Given the description of an element on the screen output the (x, y) to click on. 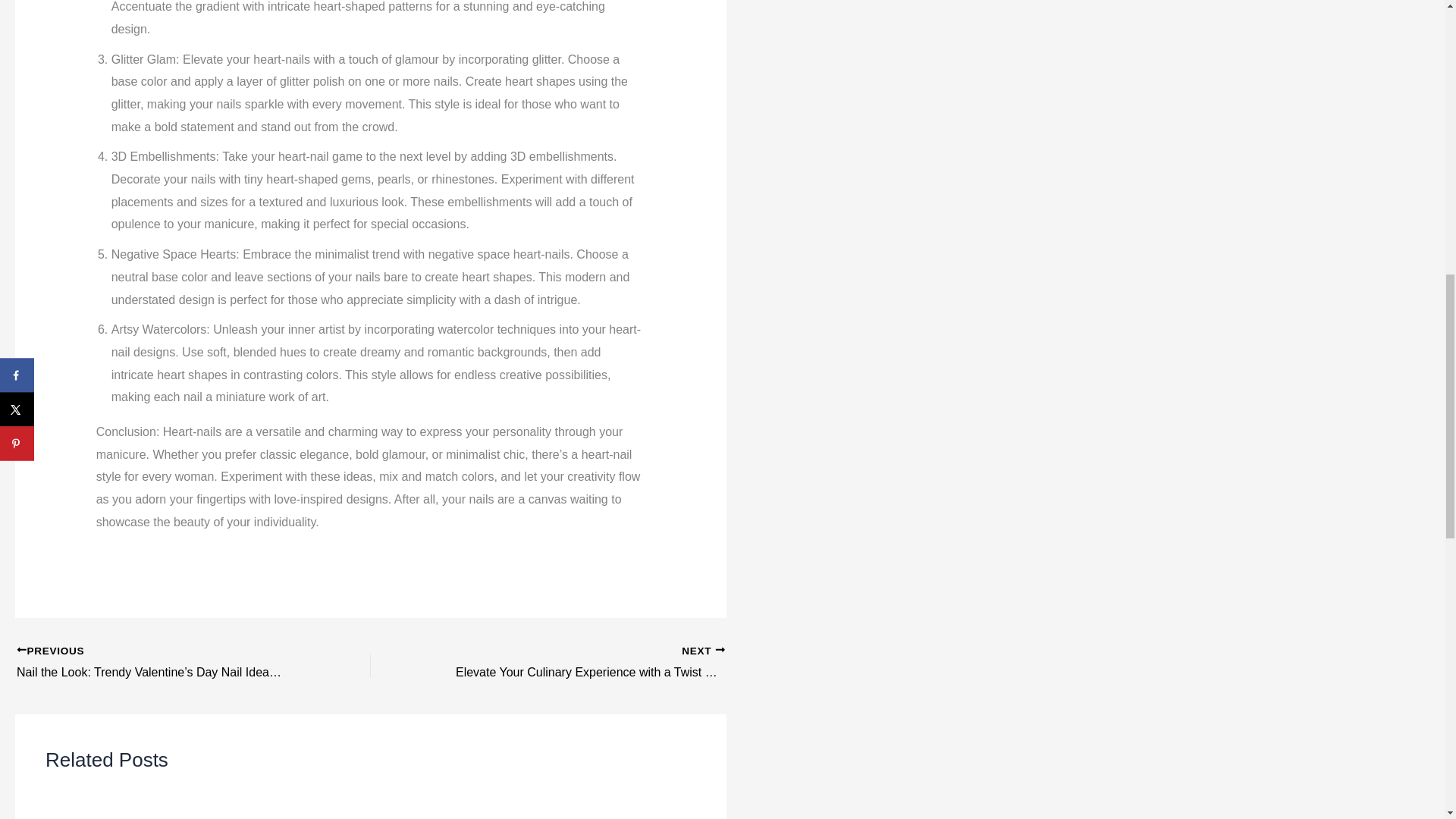
Elevate Your Culinary Experience with a Twist Cloud Bread (583, 663)
